Given the description of an element on the screen output the (x, y) to click on. 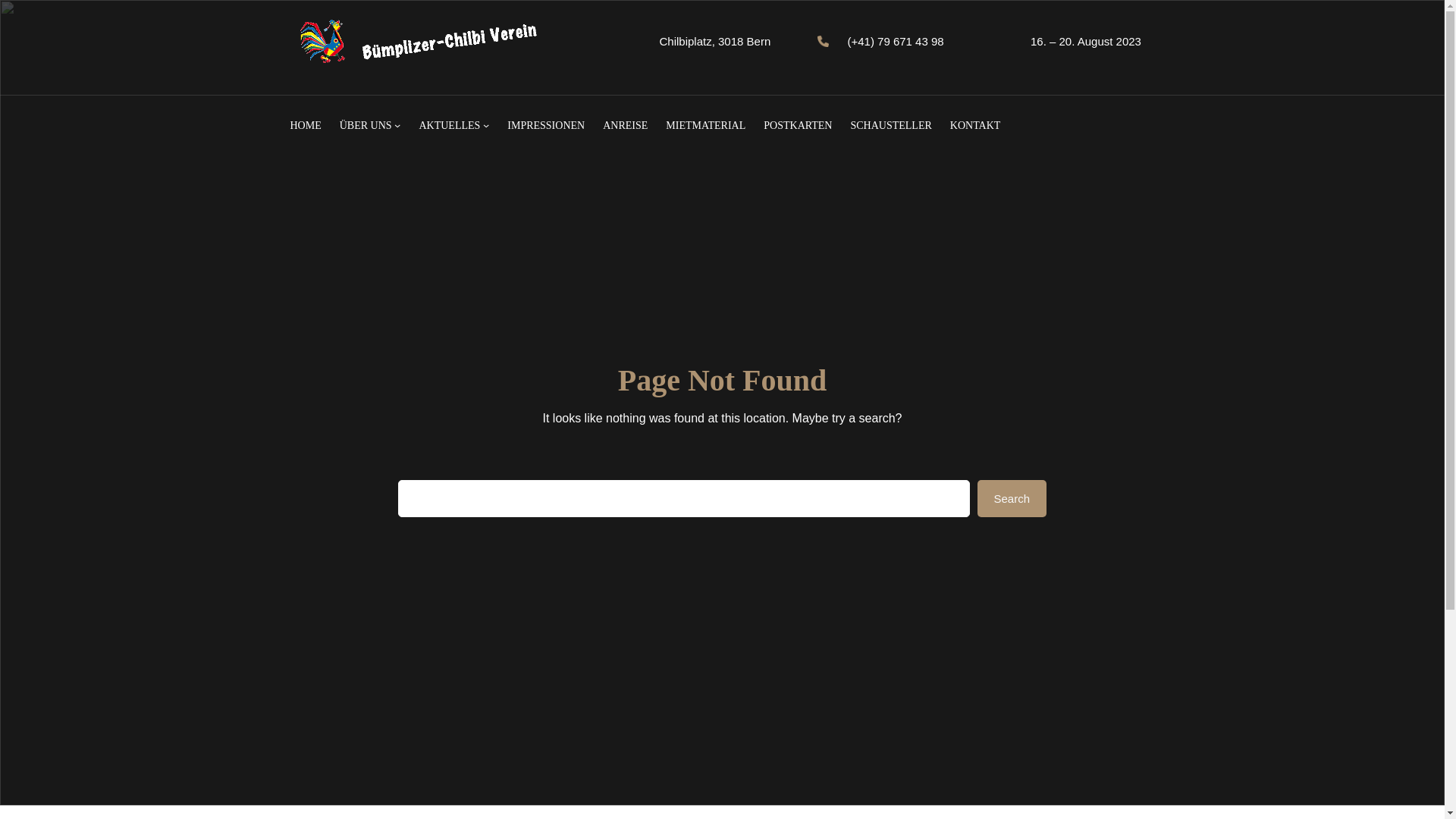
IMPRESSIONEN Element type: text (545, 125)
MIETMATERIAL Element type: text (705, 125)
ANREISE Element type: text (624, 125)
AKTUELLES Element type: text (449, 125)
POSTKARTEN Element type: text (797, 125)
Search Element type: text (1011, 498)
SCHAUSTELLER Element type: text (890, 125)
KONTAKT Element type: text (975, 125)
HOME Element type: text (304, 125)
